Given the description of an element on the screen output the (x, y) to click on. 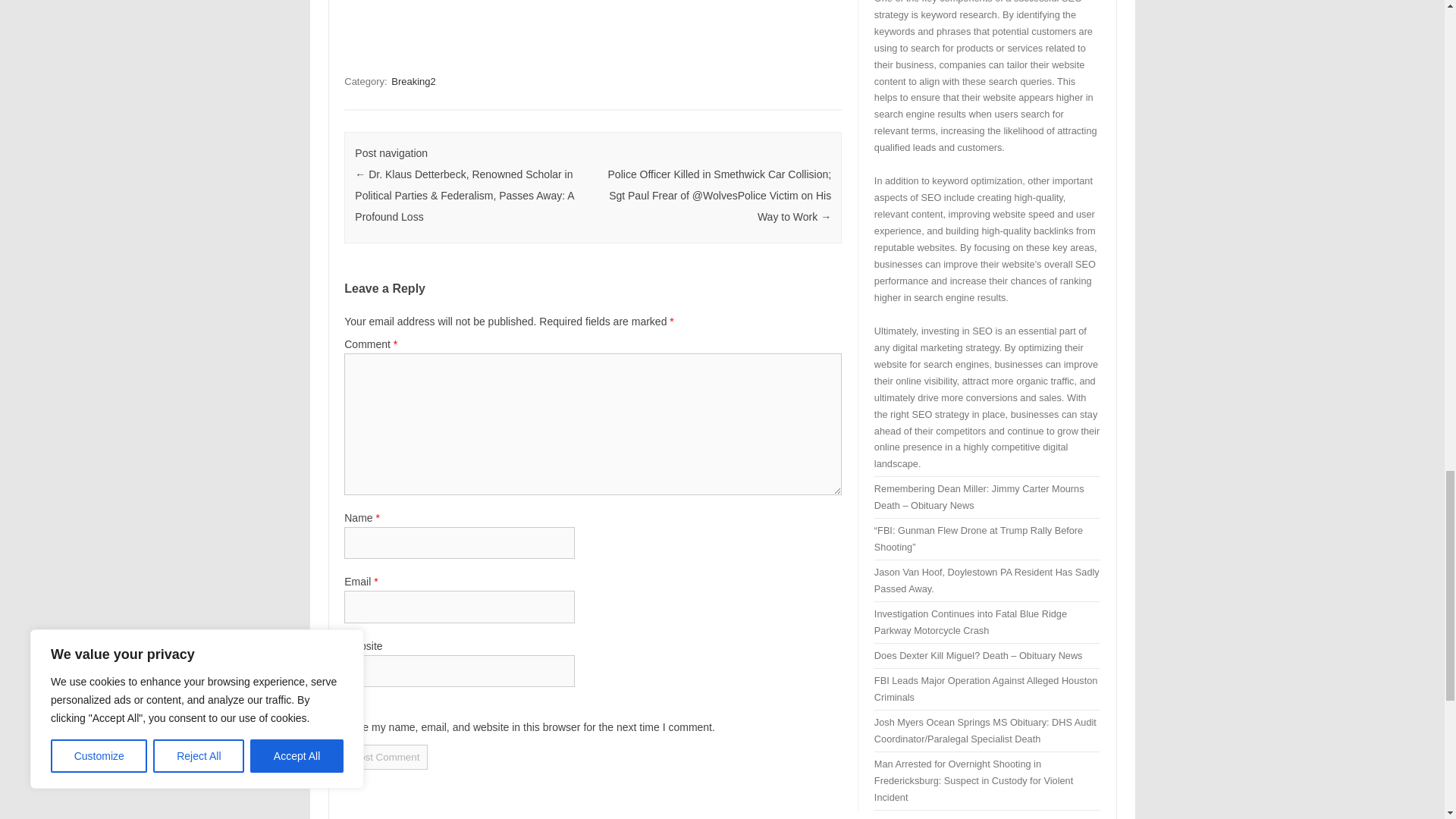
Breaking2 (414, 81)
YouTube video player (555, 23)
yes (351, 707)
Post Comment (385, 756)
